Given the description of an element on the screen output the (x, y) to click on. 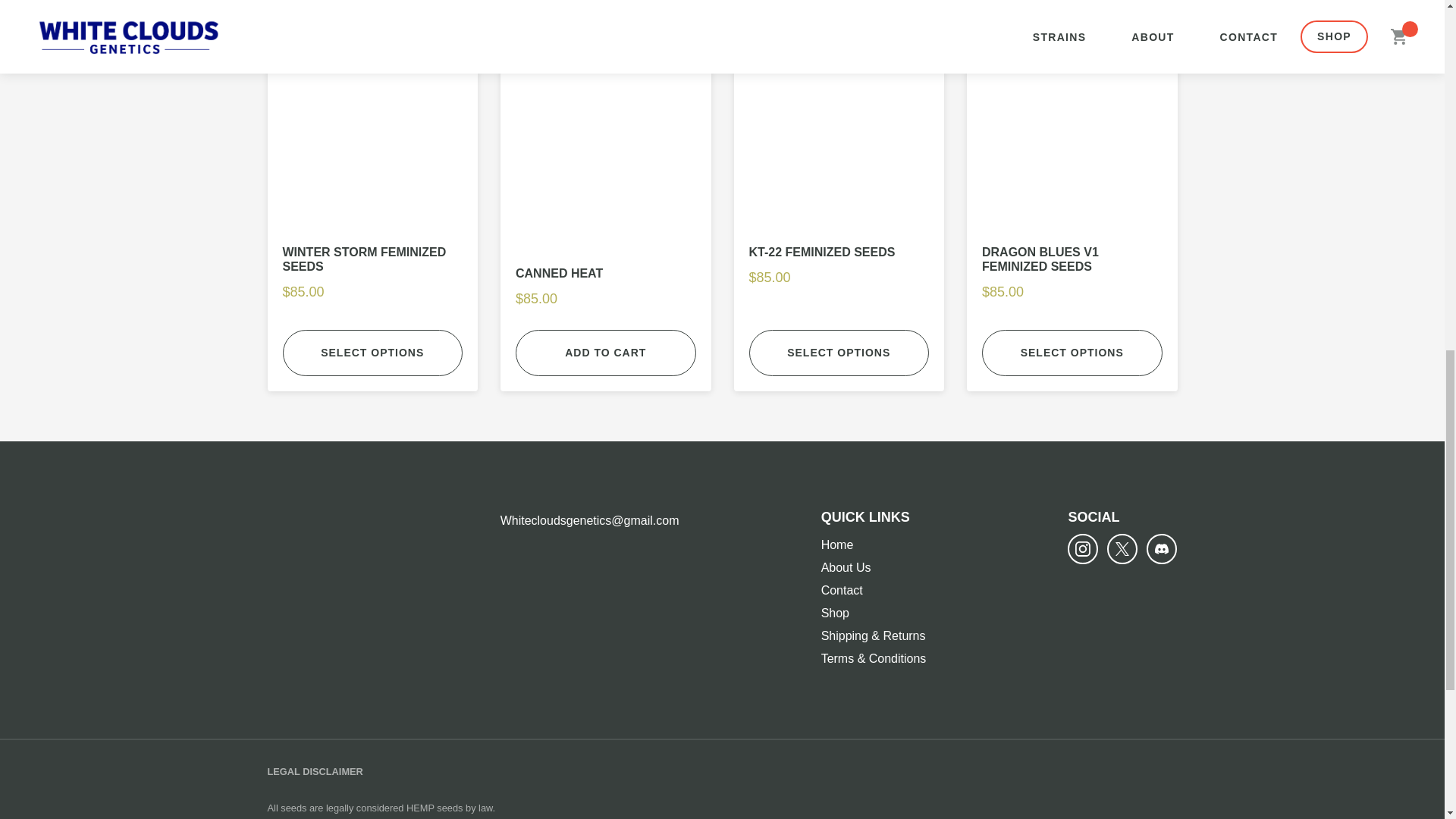
SELECT OPTIONS (372, 353)
SELECT OPTIONS (839, 353)
ADD TO CART (605, 353)
